Given the description of an element on the screen output the (x, y) to click on. 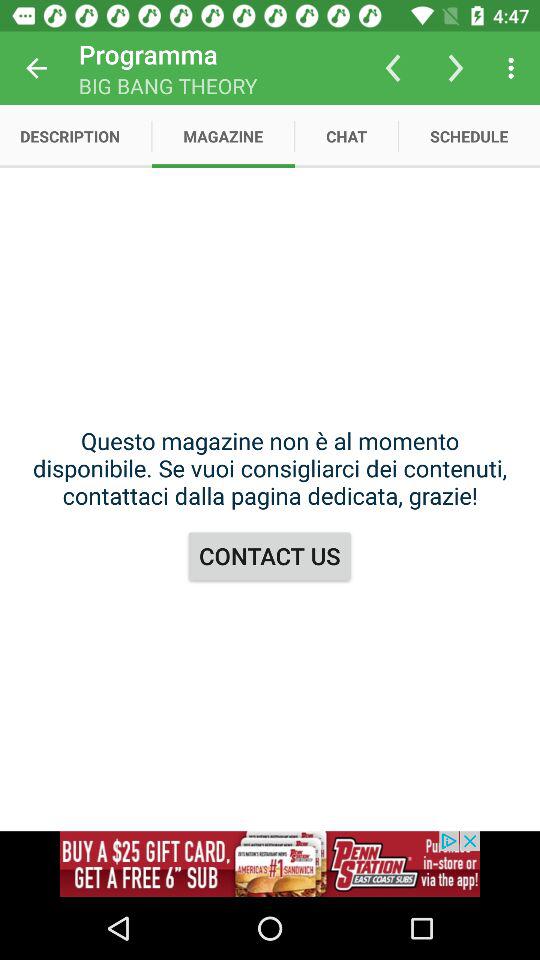
click the advertisement (270, 864)
